Given the description of an element on the screen output the (x, y) to click on. 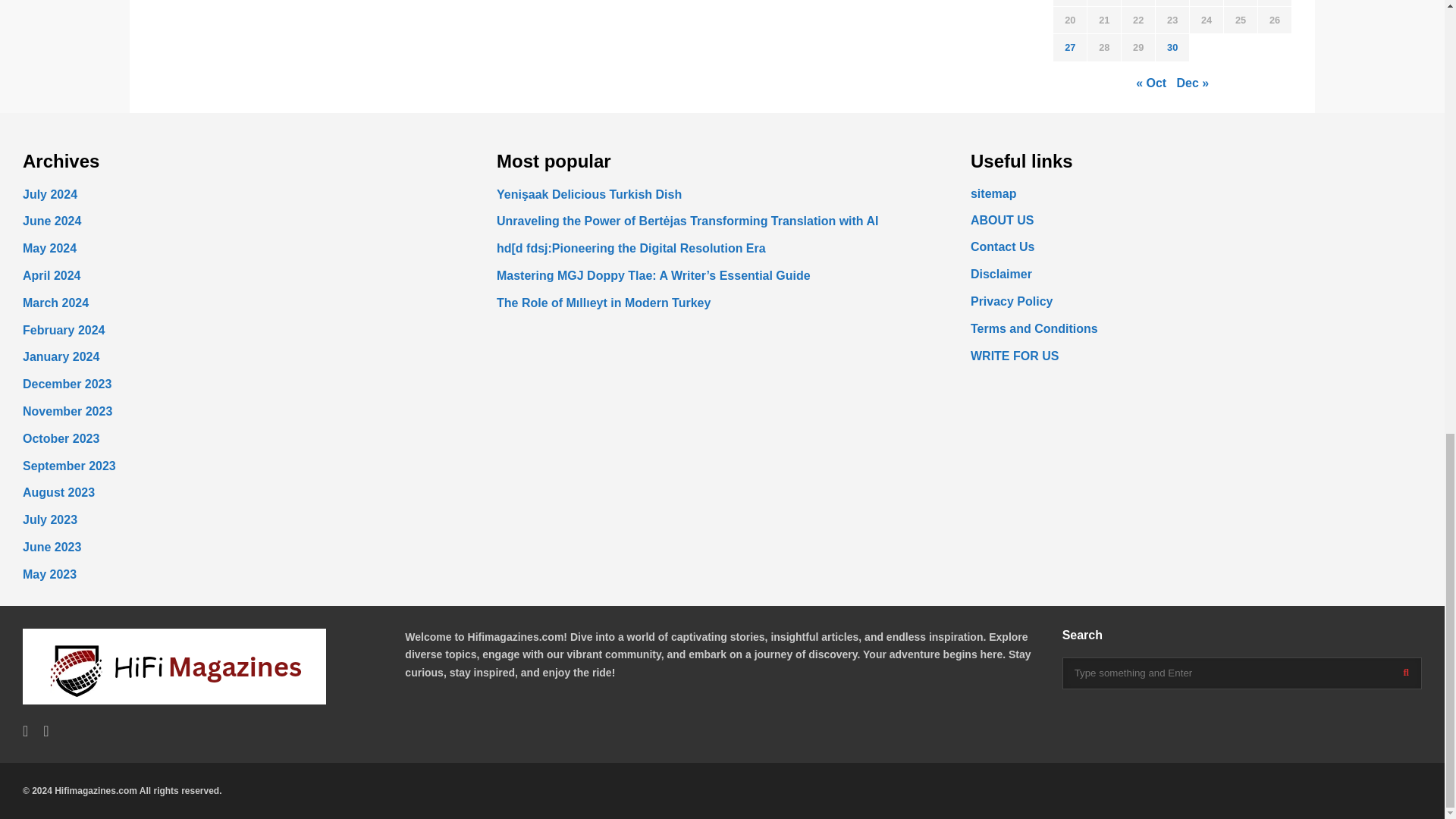
30 (1172, 47)
May 2024 (50, 247)
June 2024 (52, 220)
27 (1069, 47)
July 2024 (50, 194)
